Given the description of an element on the screen output the (x, y) to click on. 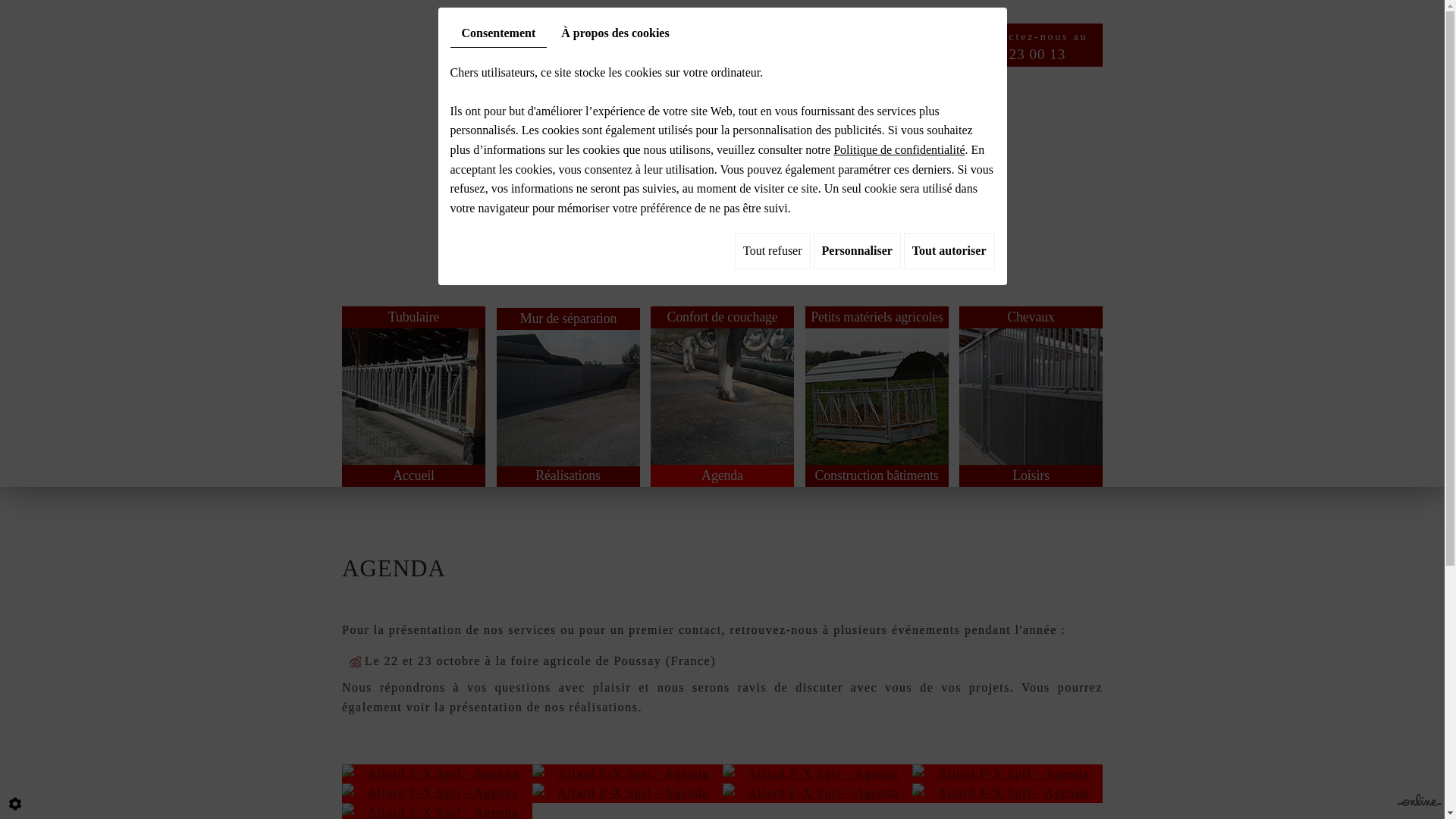
Allard F-X Sprl -  Agenda Tournai Expo Element type: hover (816, 793)
Agenda Element type: text (721, 475)
Allard F-X Sprl -  Agenda Agribex Element type: hover (627, 774)
Allard F-X Sprl -  Agenda Tournai Expo Element type: hover (627, 793)
Loisirs Element type: text (1030, 475)
Chevaux Element type: text (1030, 385)
Allard F-X Sprl -  Agenda Agribex Element type: hover (437, 774)
Confort de couchage Element type: text (721, 385)
Allard F-X Sprl -  Agenda Agribex Element type: hover (816, 774)
Tout autoriser Element type: text (948, 250)
Tout refuser Element type: text (772, 250)
Accueil Element type: text (413, 475)
Consentement Element type: text (498, 33)
Personnaliser Element type: text (856, 250)
Tubulaire Element type: text (413, 385)
Contactez-nous au
0476 23 00 13 Element type: text (1037, 46)
Allard F-X Sprl -  Agenda Foire agricole de Poussay (France) Element type: hover (1007, 774)
